Given the description of an element on the screen output the (x, y) to click on. 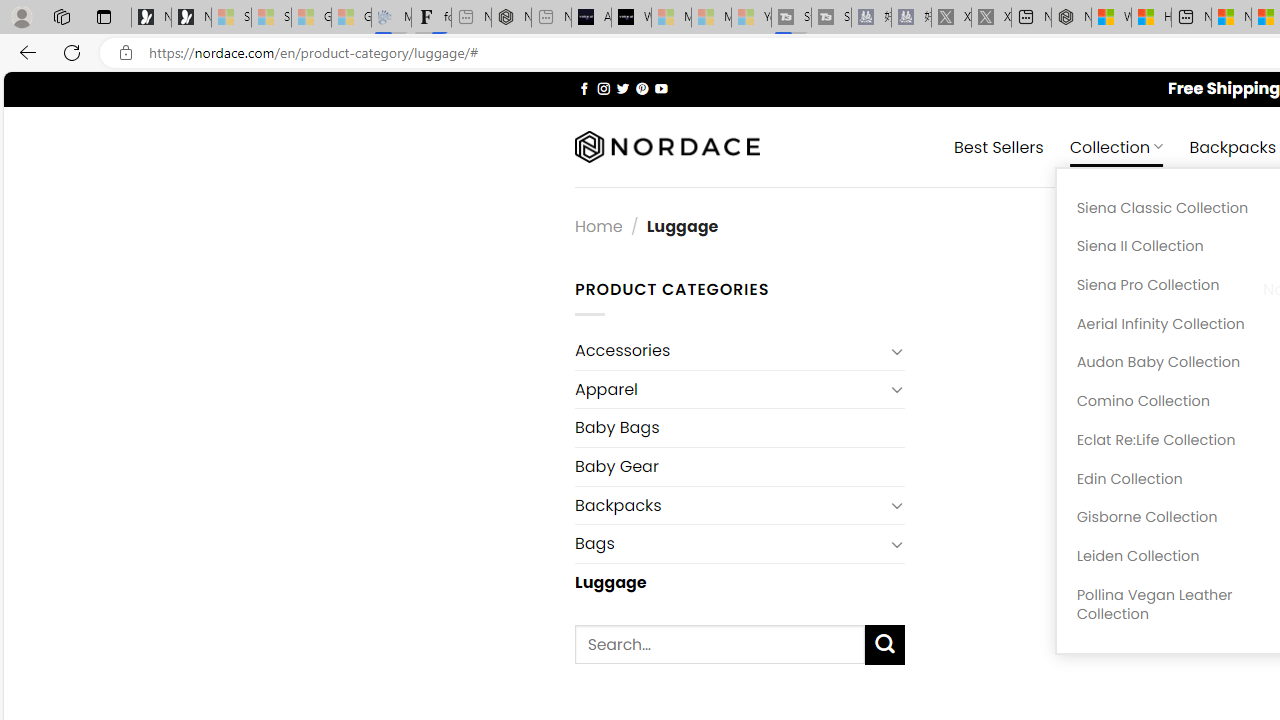
What's the best AI voice generator? - voice.ai (631, 17)
Refresh (72, 52)
Nordace (667, 147)
Tab actions menu (104, 16)
View site information (125, 53)
Luggage (739, 582)
Workspaces (61, 16)
Microsoft Start Sports - Sleeping (671, 17)
